Given the description of an element on the screen output the (x, y) to click on. 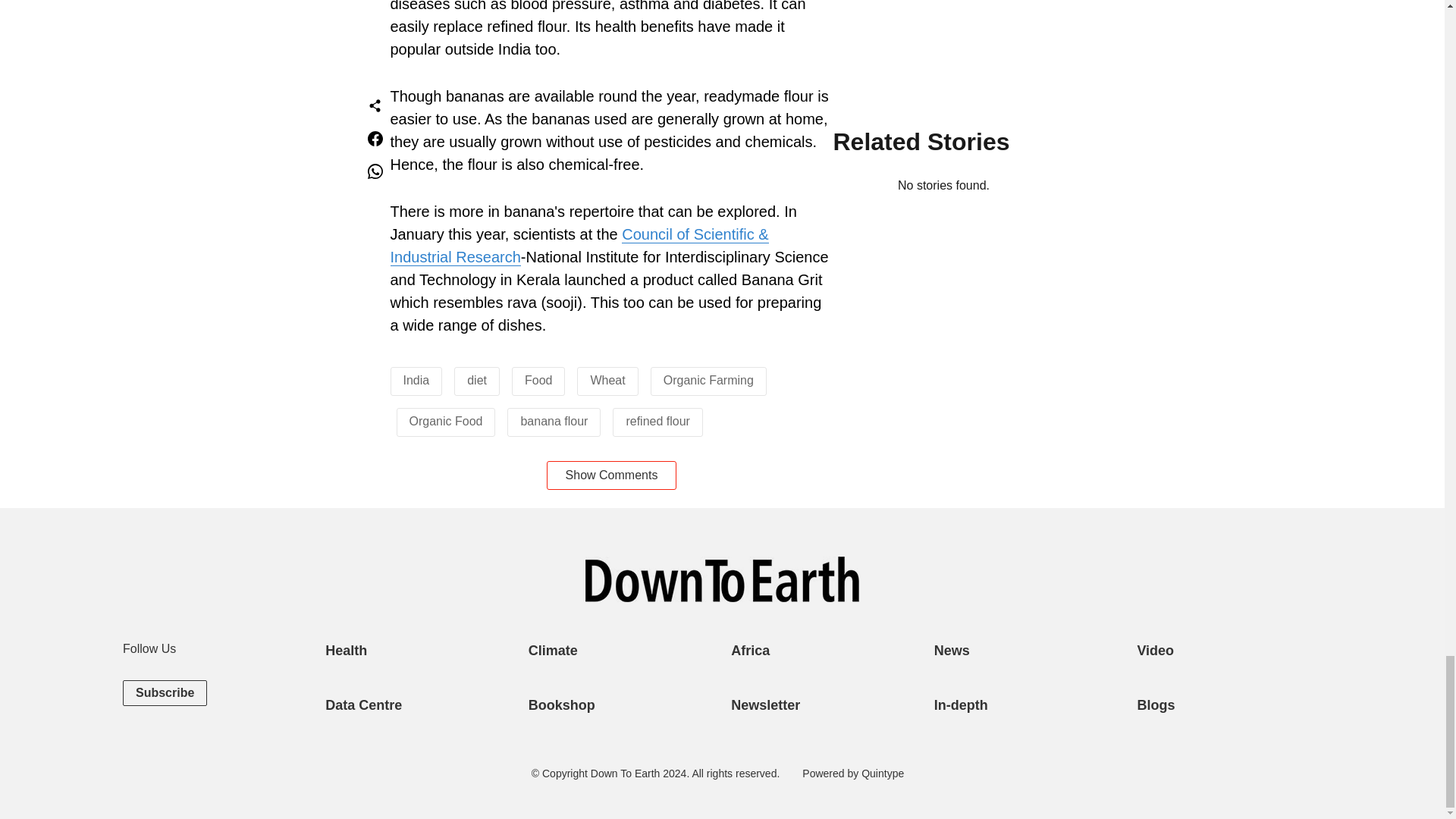
Wheat (606, 379)
diet (476, 379)
Food (537, 379)
banana flour (553, 420)
India (416, 379)
Organic Farming (708, 379)
Organic Food (446, 420)
refined flour (658, 420)
